Given the description of an element on the screen output the (x, y) to click on. 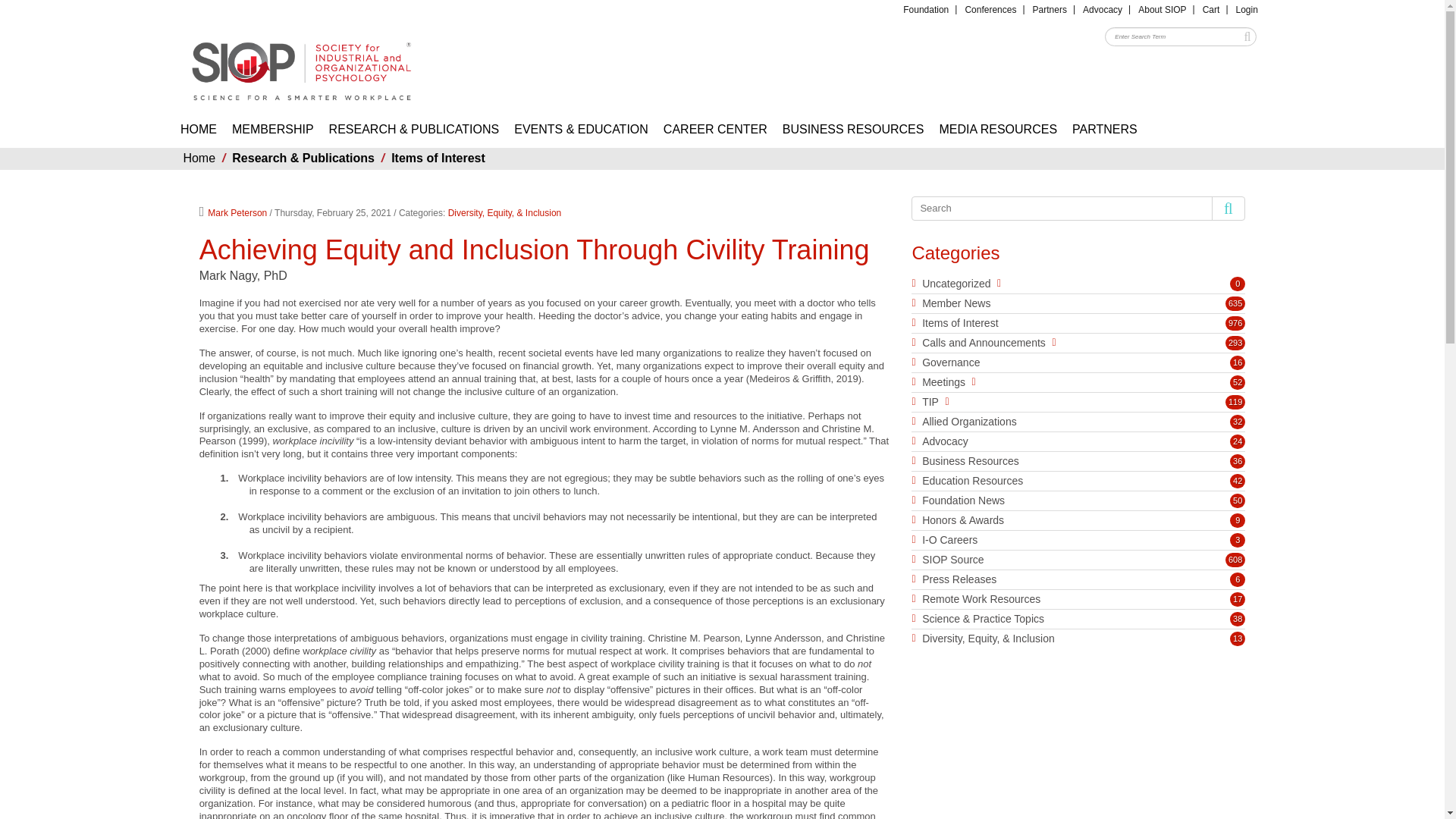
Login (1246, 9)
About SIOP (1162, 9)
Partners (1049, 9)
Society for Industrial and Organizational Psychology (300, 64)
Member News (955, 303)
Enter Search Term (1180, 36)
976 (1234, 323)
Foundation (925, 9)
0 (1237, 283)
Conferences (990, 9)
